Given the description of an element on the screen output the (x, y) to click on. 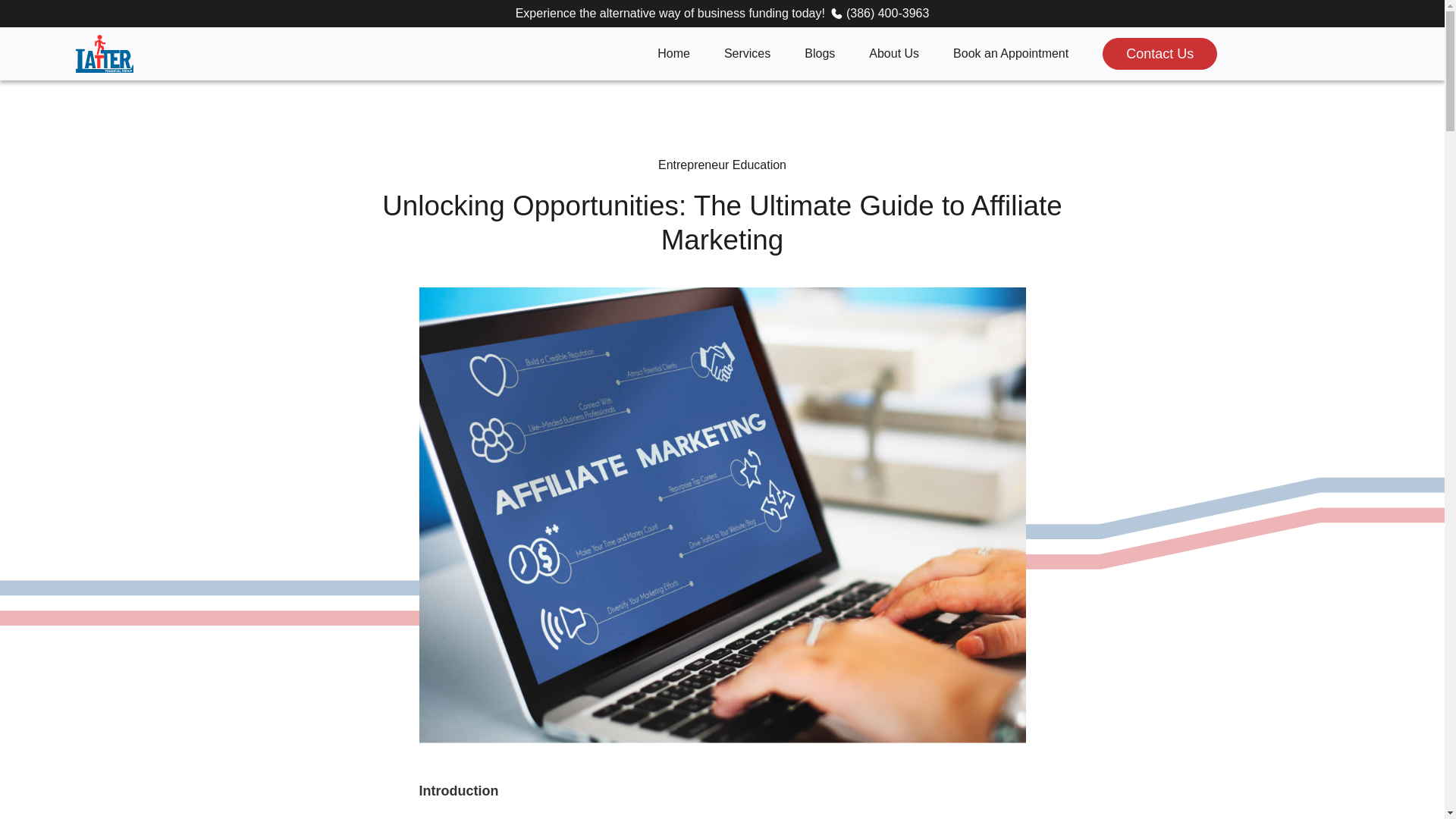
About Us (893, 53)
Services (746, 53)
Blogs (819, 53)
Book an Appointment (1010, 53)
Home (674, 53)
Contact Us (1159, 53)
